Given the description of an element on the screen output the (x, y) to click on. 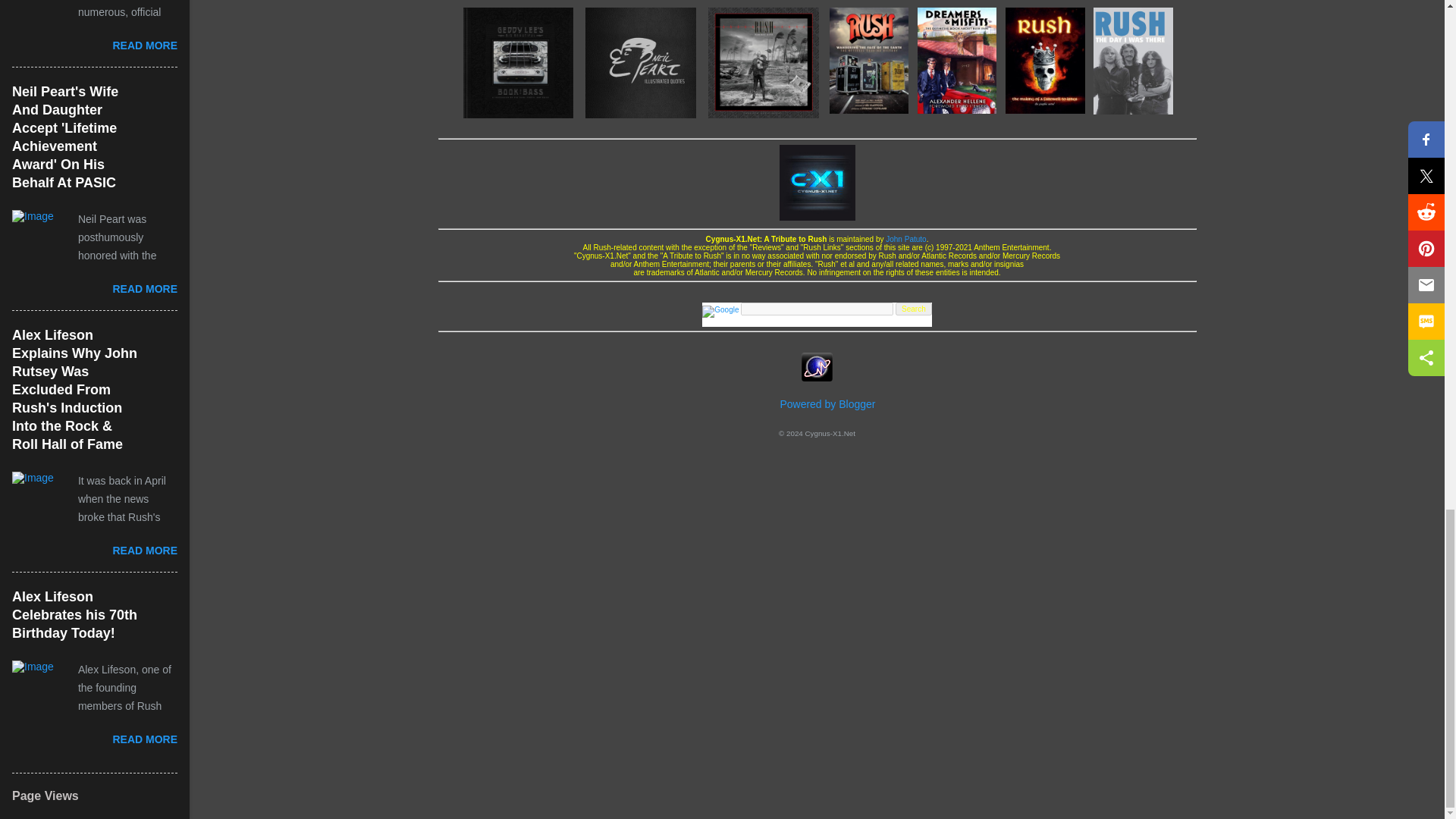
Search (913, 308)
eXTReMe Tracker - Free Website Statistics (817, 378)
